Given the description of an element on the screen output the (x, y) to click on. 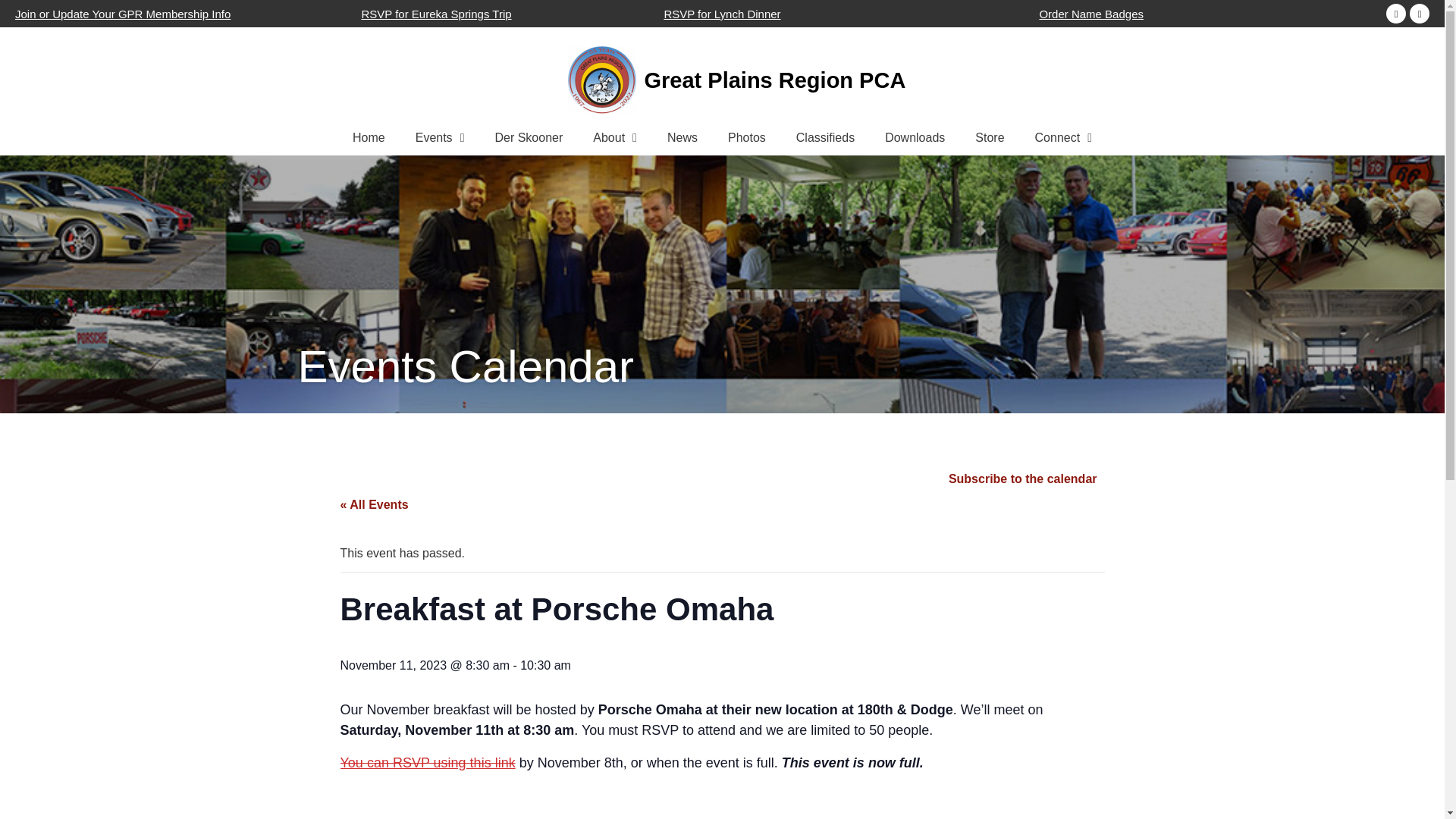
Store (989, 137)
GPR-PCA 55TH ANNIV (601, 79)
RSVP for Lynch Dinner (721, 13)
Der Skooner (528, 137)
Order Name Badges (1090, 13)
Connect (1063, 137)
Downloads (914, 137)
About (615, 137)
Events (440, 137)
Home (368, 137)
Photos (746, 137)
News (682, 137)
Join or Update Your GPR Membership Info (122, 13)
RSVP for Eureka Springs Trip (436, 13)
Classifieds (824, 137)
